Given the description of an element on the screen output the (x, y) to click on. 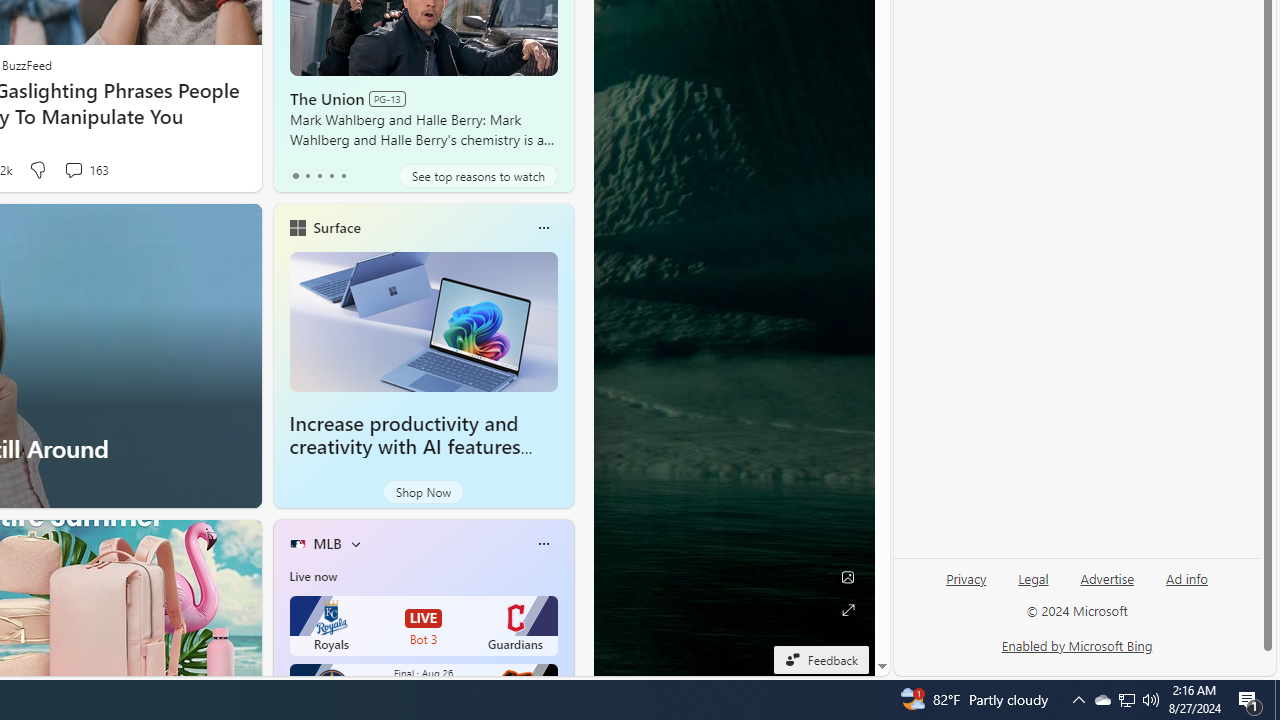
Royals LIVE Bot 3 Guardians (423, 625)
See top reasons to watch (478, 175)
Surface (336, 227)
View comments 163 Comment (85, 170)
tab-0 (295, 175)
Expand background (847, 610)
Shop Now (422, 491)
